Given the description of an element on the screen output the (x, y) to click on. 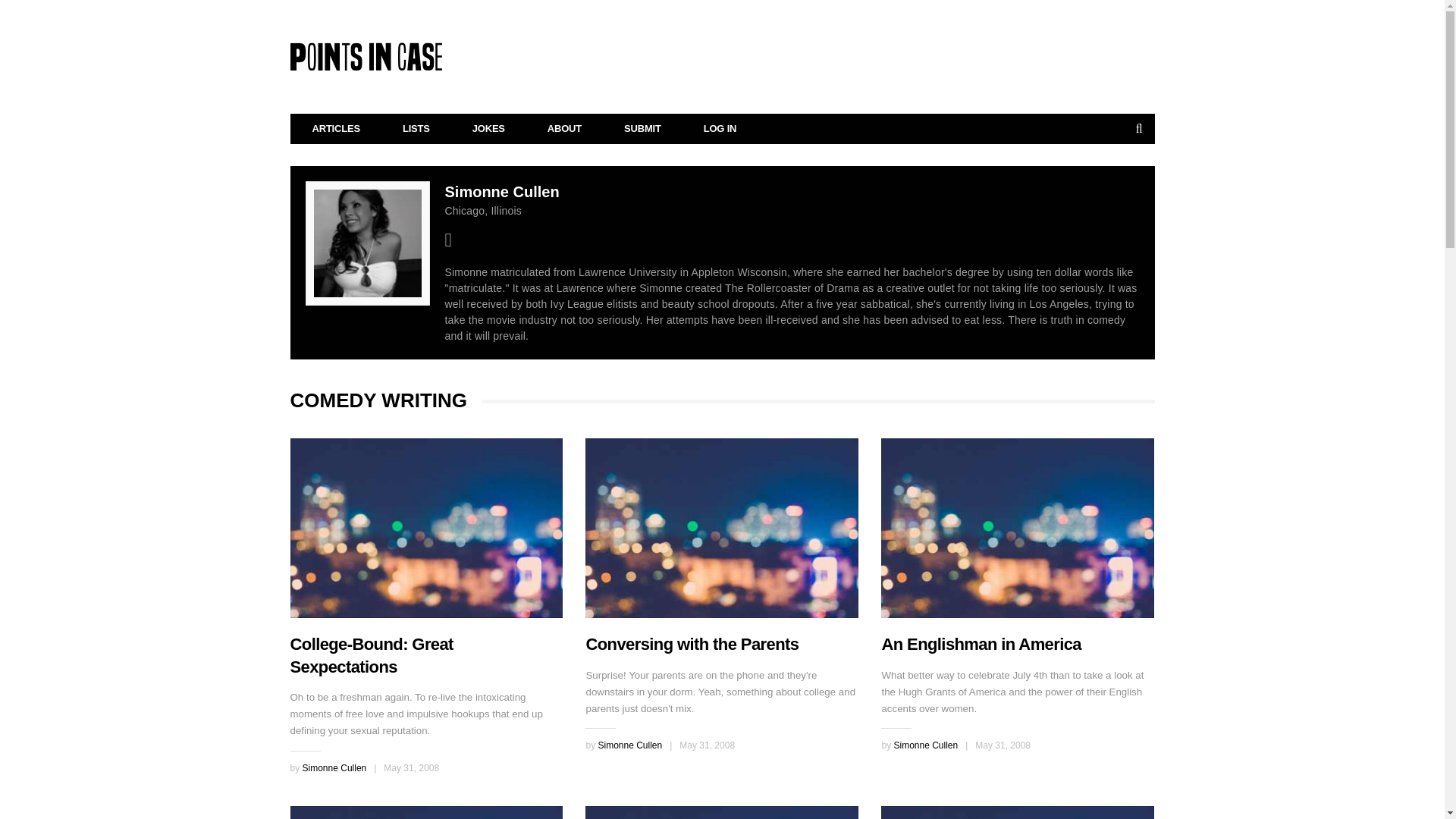
Posts by Simonne Cullen (925, 745)
Simonne Cullen (629, 745)
Hostage at LAX (722, 812)
LISTS (416, 128)
An Englishman in America (980, 643)
Simonne Cullen (925, 745)
Conversing with the Parents (691, 643)
Posts by Simonne Cullen (629, 745)
College-Bound: Great Sexpectations (425, 528)
Kevin, You are Such a Disease (1017, 812)
JOKES (488, 128)
Simonne Cullen (334, 767)
LOG IN (720, 128)
ABOUT (563, 128)
ARTICLES (336, 128)
